Given the description of an element on the screen output the (x, y) to click on. 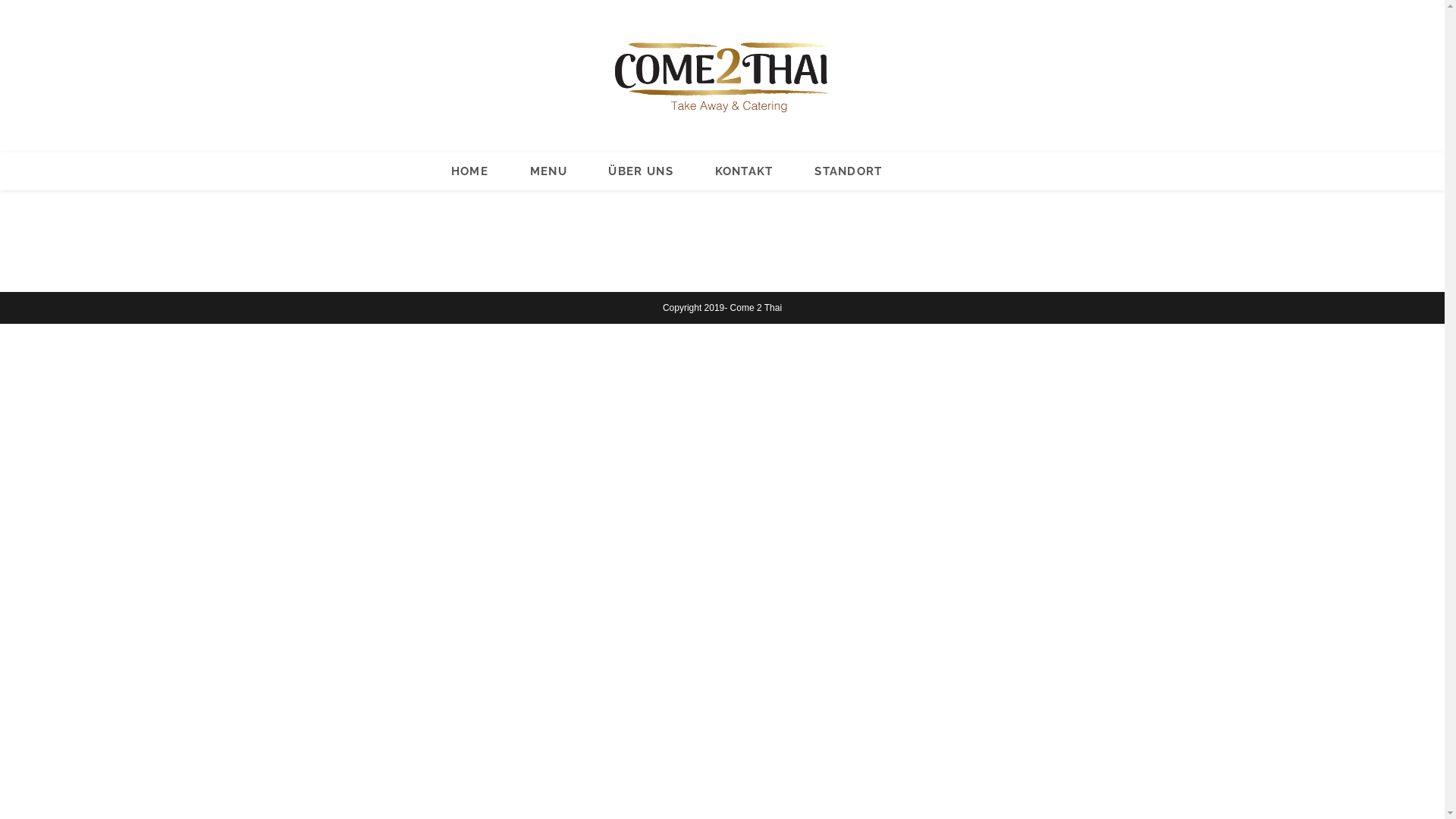
KONTAKT Element type: text (743, 171)
STANDORT Element type: text (848, 171)
HOME Element type: text (469, 171)
MENU Element type: text (547, 171)
